Given the description of an element on the screen output the (x, y) to click on. 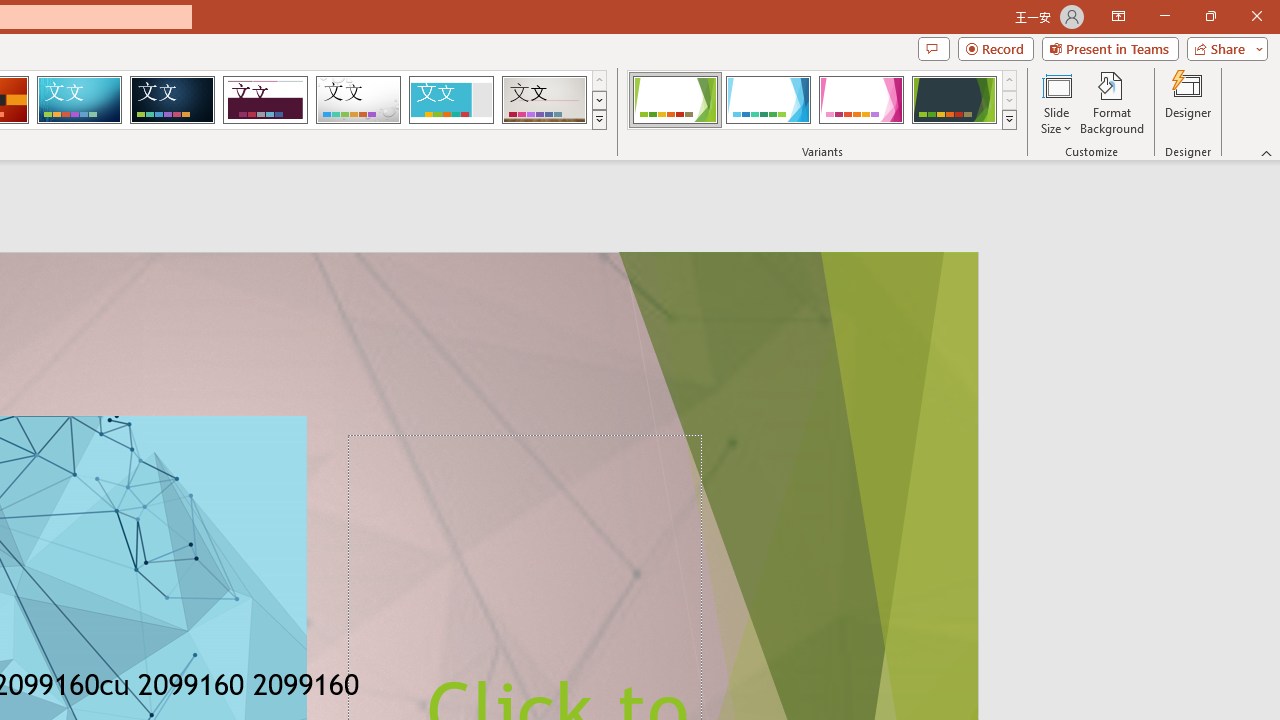
Slide Size (1056, 102)
Facet Variant 3 (861, 100)
AutomationID: ThemeVariantsGallery (822, 99)
Damask Loading Preview... (171, 100)
Circuit Loading Preview... (79, 100)
Facet Variant 4 (953, 100)
Droplet Loading Preview... (358, 100)
Facet Variant 1 (674, 100)
